Given the description of an element on the screen output the (x, y) to click on. 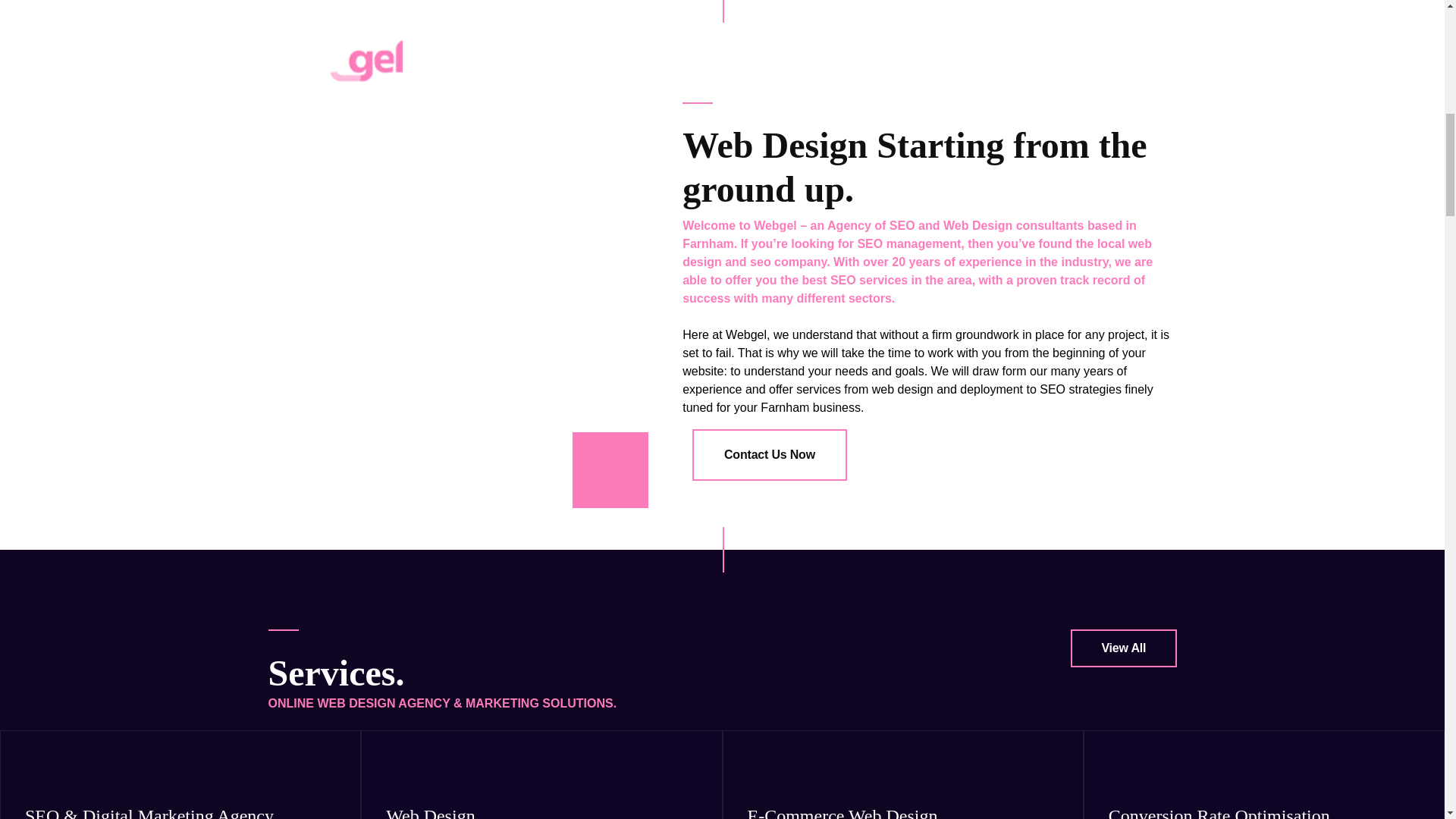
Contact Us Now (770, 454)
View All (1123, 648)
